Given the description of an element on the screen output the (x, y) to click on. 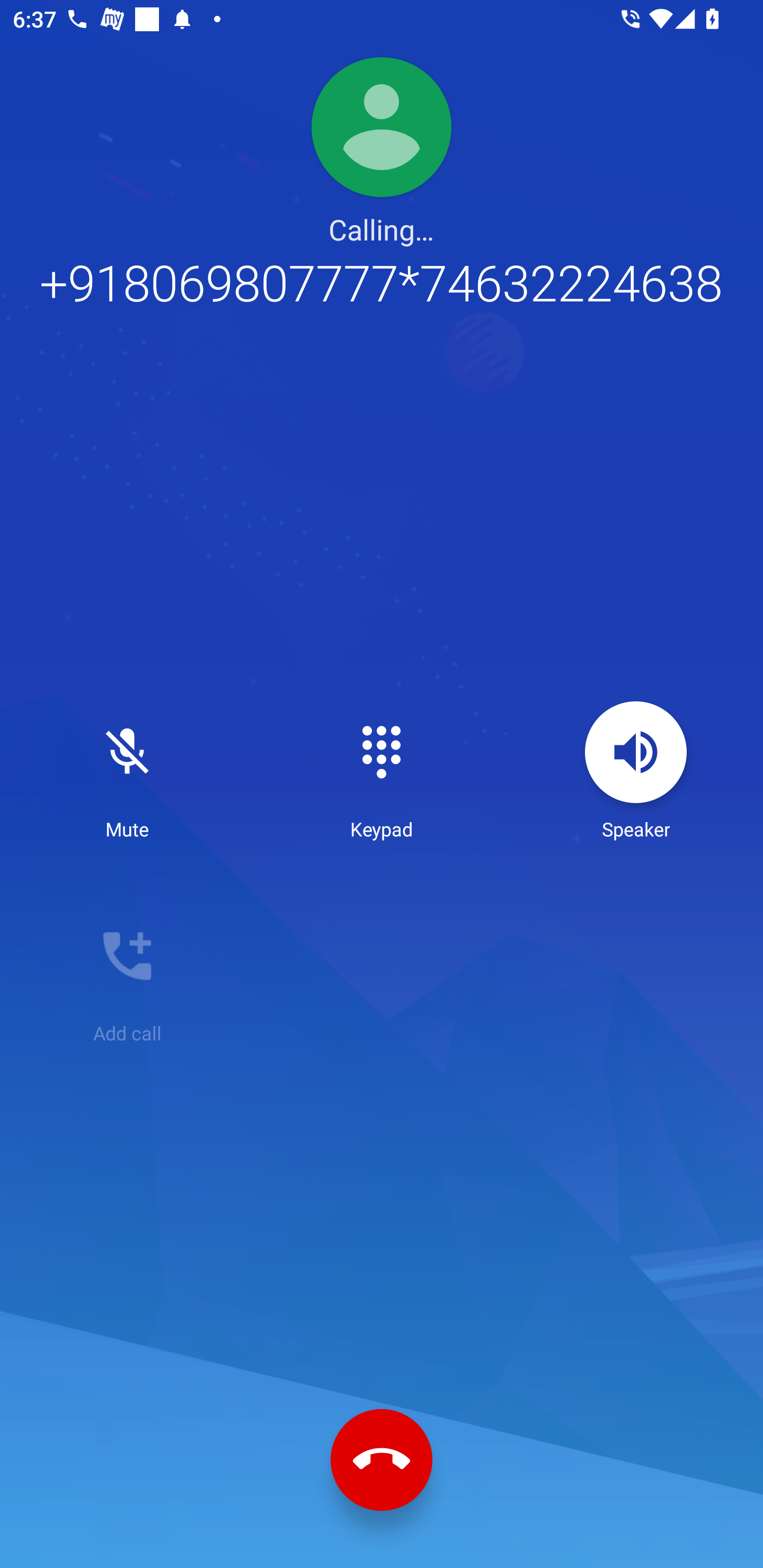
Unmuted Mute (127, 771)
Keypad (381, 771)
Speaker, is on Speaker (635, 771)
Add call (127, 975)
End call (381, 1460)
